Given the description of an element on the screen output the (x, y) to click on. 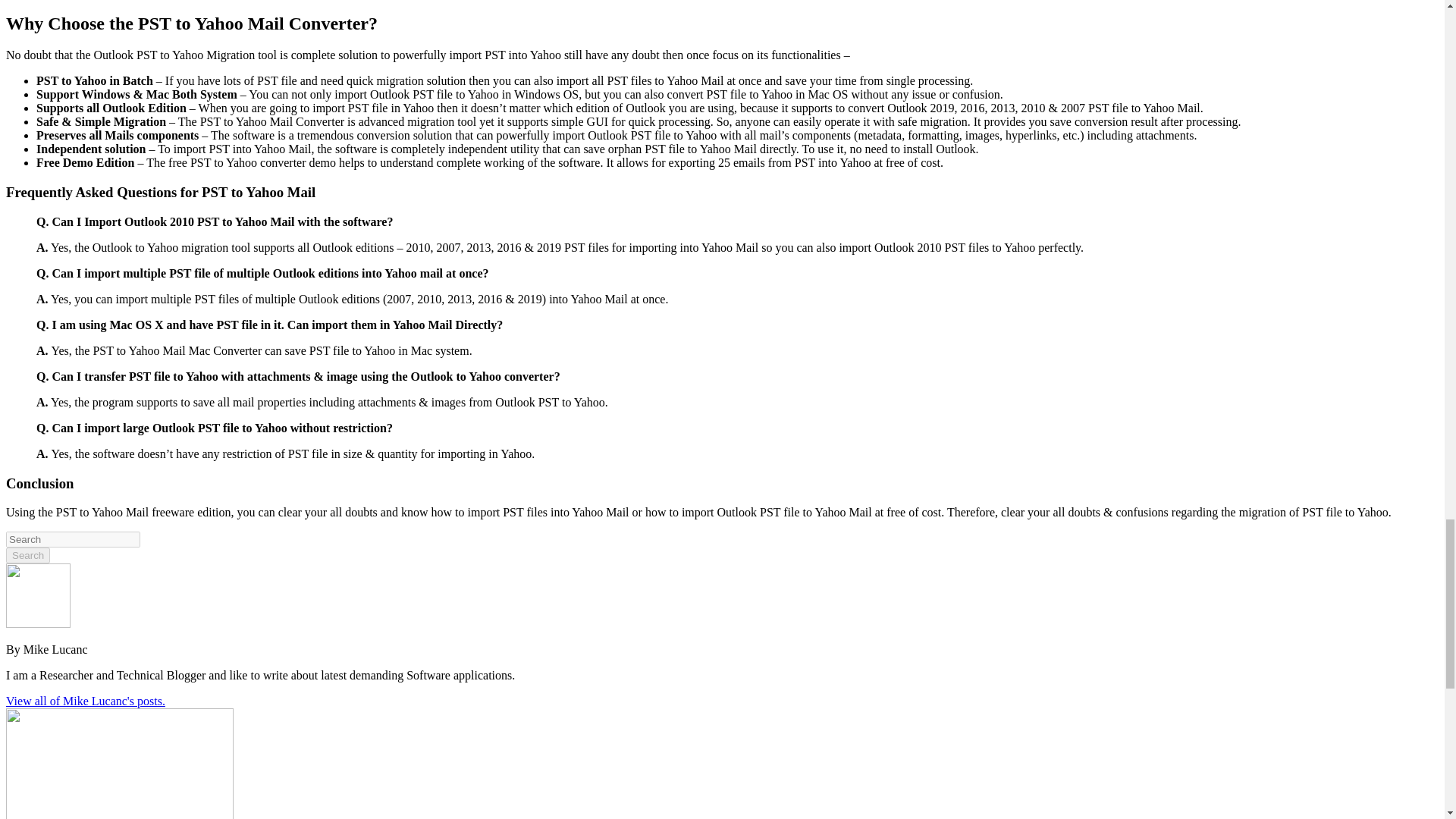
View all of Mike Lucanc's posts. (85, 700)
Search (27, 555)
